Given the description of an element on the screen output the (x, y) to click on. 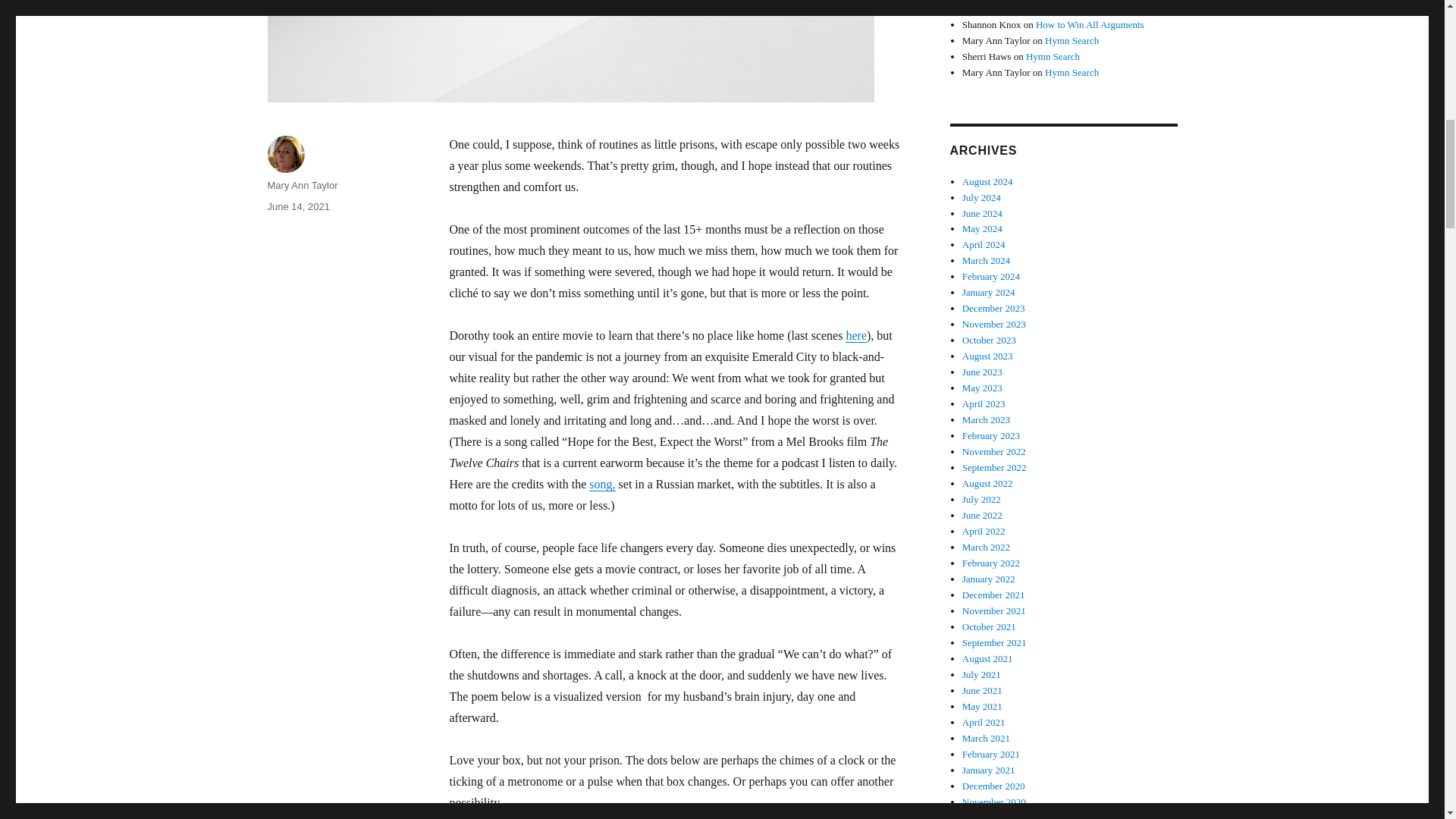
November 2023 (994, 324)
June 14, 2021 (297, 206)
here (855, 335)
February 2024 (991, 276)
June 2024 (982, 213)
December 2023 (993, 307)
Hymn Search (1072, 40)
July 2024 (981, 197)
Hymn Search (1053, 56)
Mary Ann Taylor (301, 184)
